Given the description of an element on the screen output the (x, y) to click on. 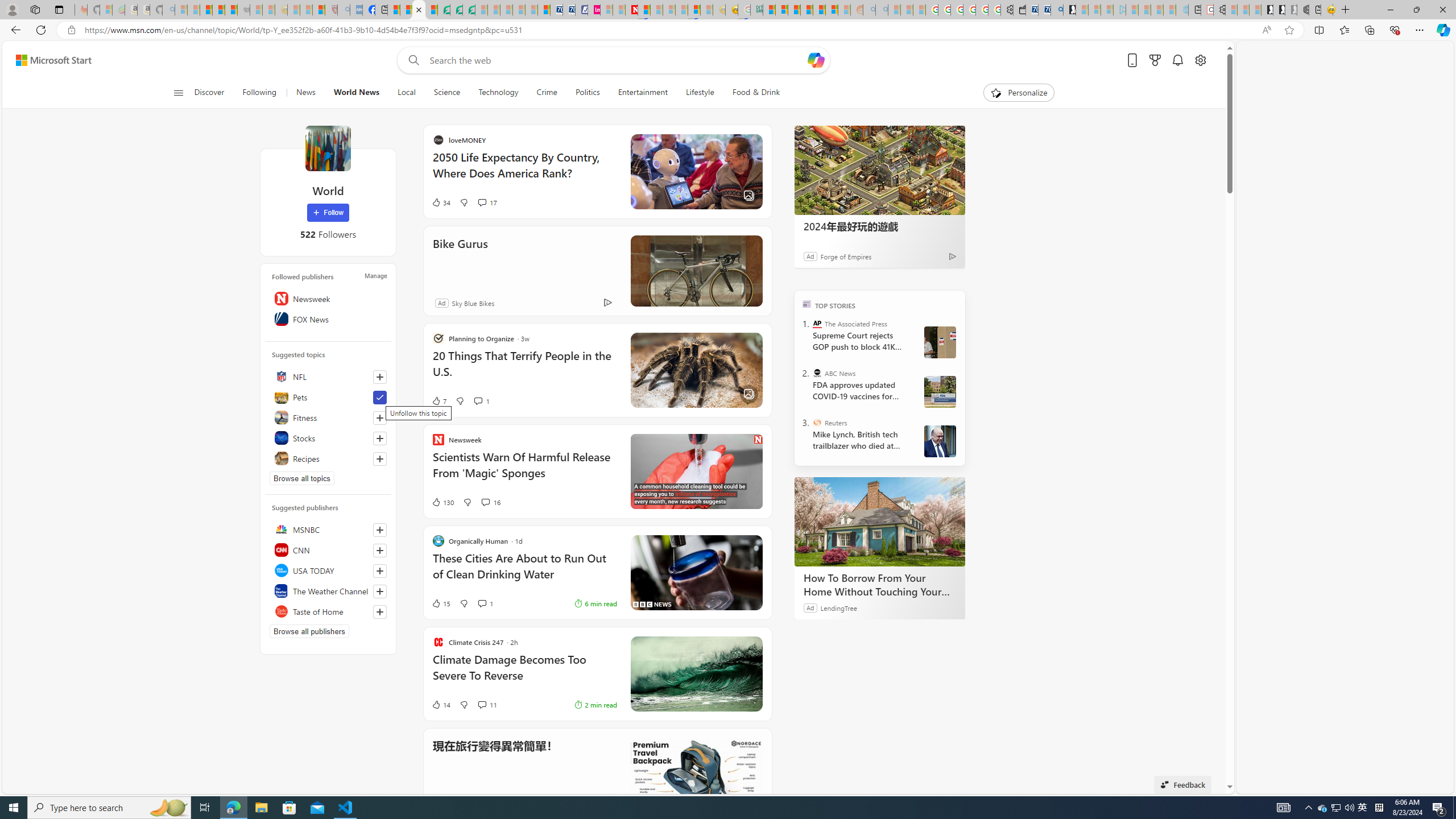
Browse all publishers (309, 631)
Follow (328, 212)
USA TODAY (327, 570)
The Weather Channel (327, 590)
